Given the description of an element on the screen output the (x, y) to click on. 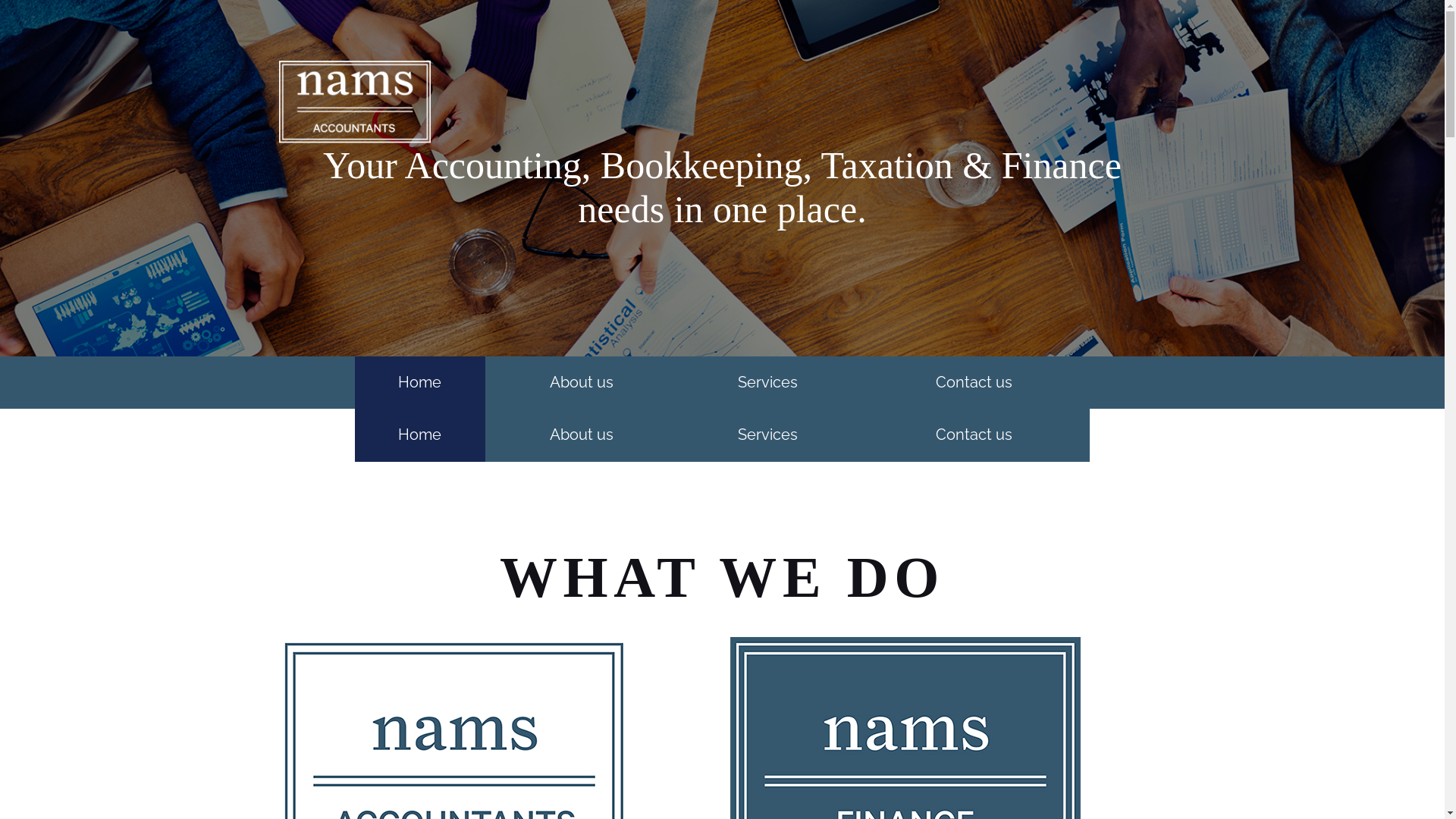
Contact us Element type: text (973, 434)
Contact us Element type: text (973, 382)
About us Element type: text (581, 382)
Services Element type: text (768, 434)
Services Element type: text (768, 382)
Home Element type: text (419, 434)
About us Element type: text (581, 434)
Home Element type: text (419, 382)
